Given the description of an element on the screen output the (x, y) to click on. 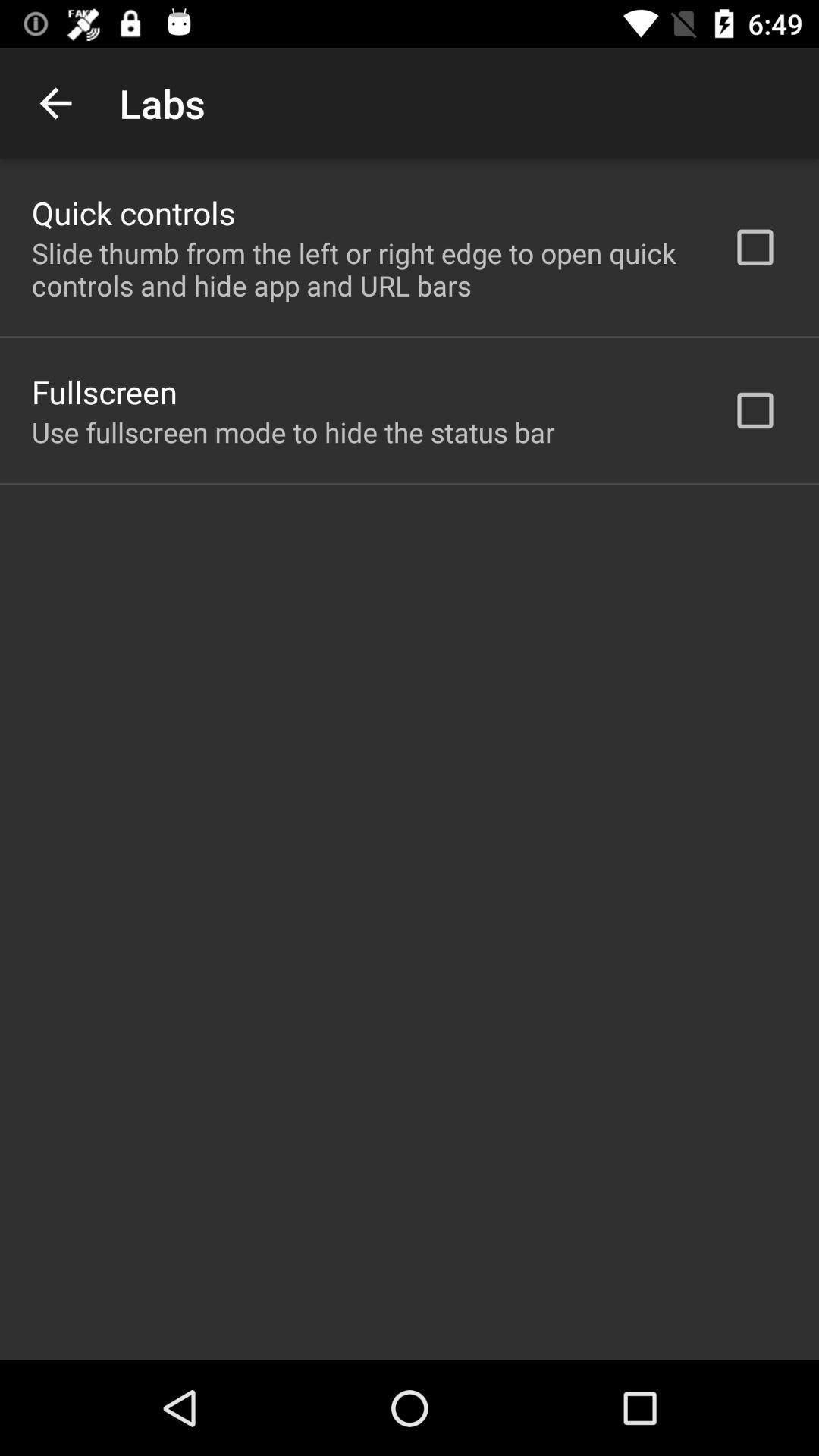
open icon below the quick controls (361, 269)
